Given the description of an element on the screen output the (x, y) to click on. 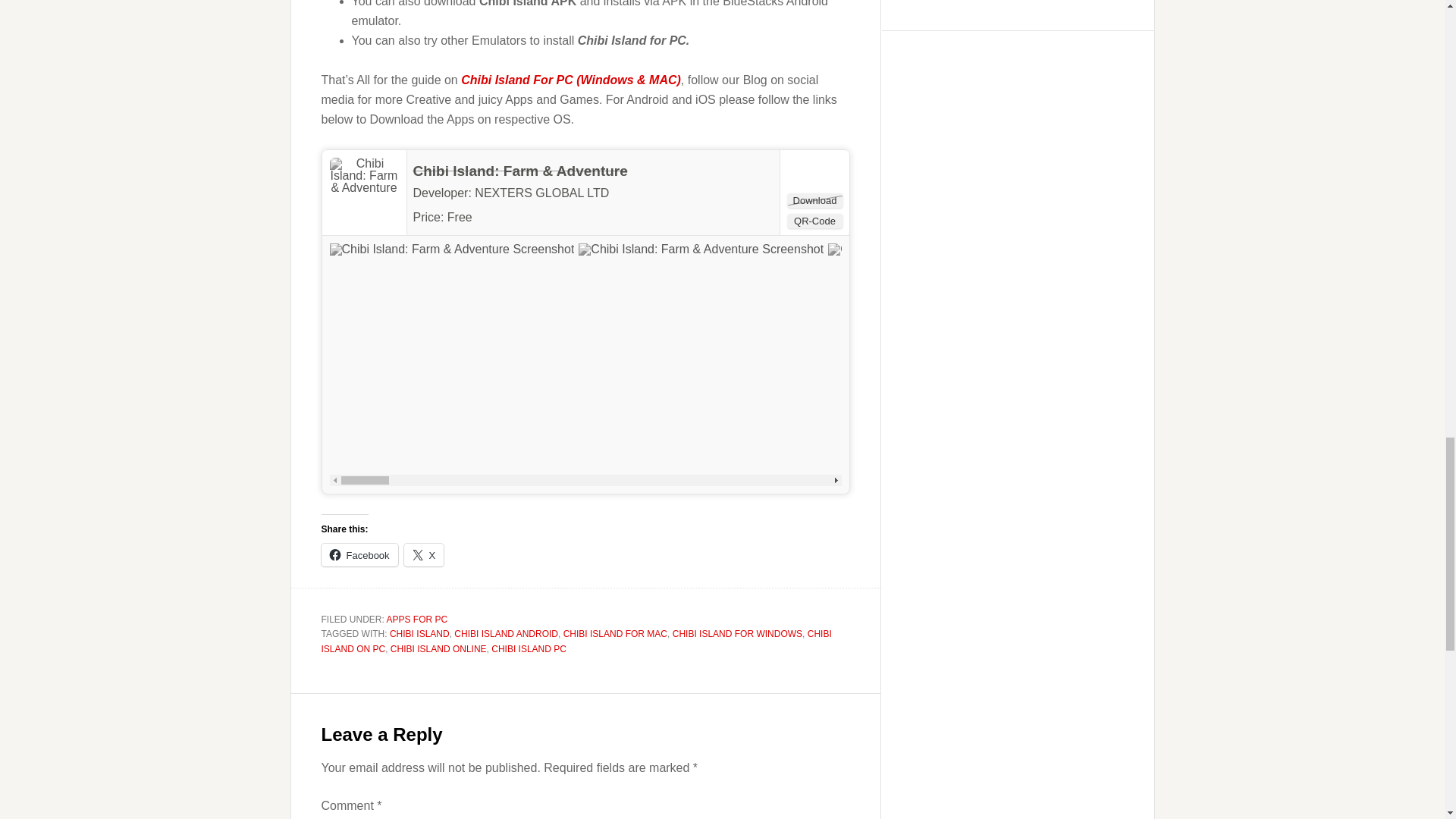
CHIBI ISLAND ON PC (576, 641)
NEXTERS GLOBAL LTD (541, 192)
CHIBI ISLAND ONLINE (438, 648)
CHIBI ISLAND ANDROID (505, 633)
CHIBI ISLAND PC (529, 648)
CHIBI ISLAND FOR MAC (614, 633)
CHIBI ISLAND (419, 633)
5 of 5 stars (503, 216)
Facebook (359, 554)
Download (814, 200)
